Given the description of an element on the screen output the (x, y) to click on. 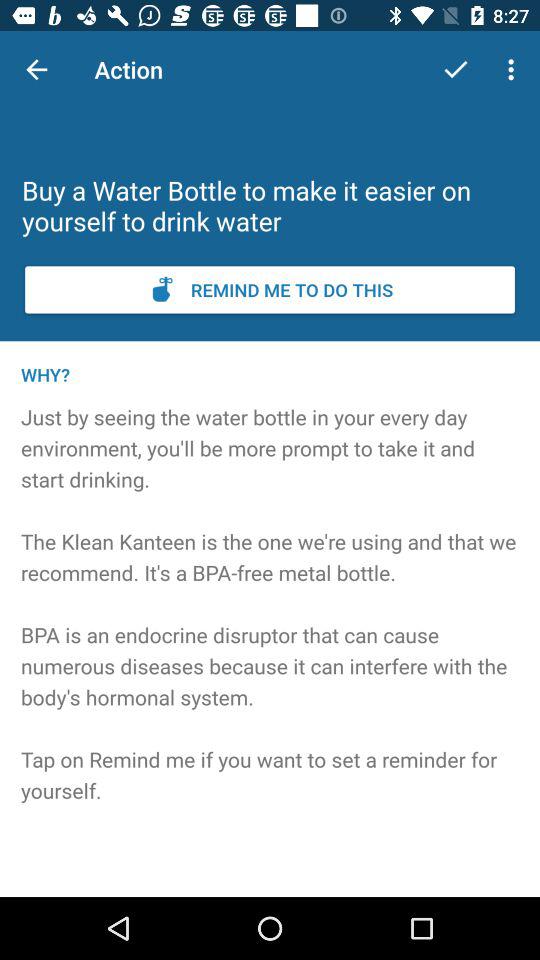
trigger reminder (269, 289)
